Given the description of an element on the screen output the (x, y) to click on. 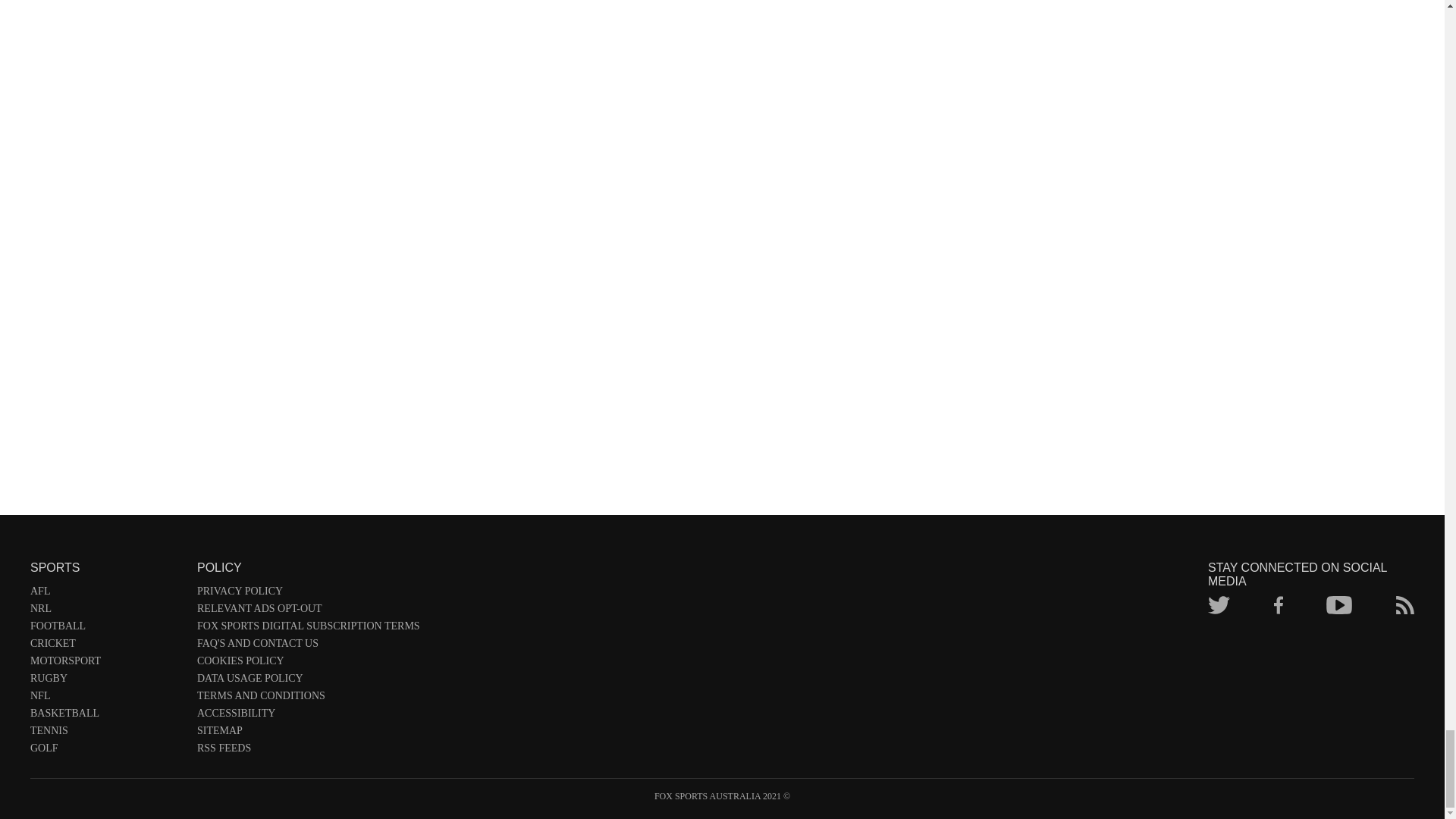
TERMS AND CONDITIONS (308, 698)
AFL (106, 593)
RSS FEEDS (308, 751)
FAQ'S AND CONTACT US (308, 646)
RELEVANT ADS OPT-OUT (308, 610)
TENNIS (106, 733)
SITEMAP (308, 733)
NFL (106, 698)
DATA USAGE POLICY (308, 681)
MOTORSPORT (106, 663)
FOX SPORTS DIGITAL SUBSCRIPTION TERMS (308, 628)
COOKIES POLICY (308, 663)
CRICKET (106, 646)
NRL (106, 610)
PRIVACY POLICY (308, 593)
